Given the description of an element on the screen output the (x, y) to click on. 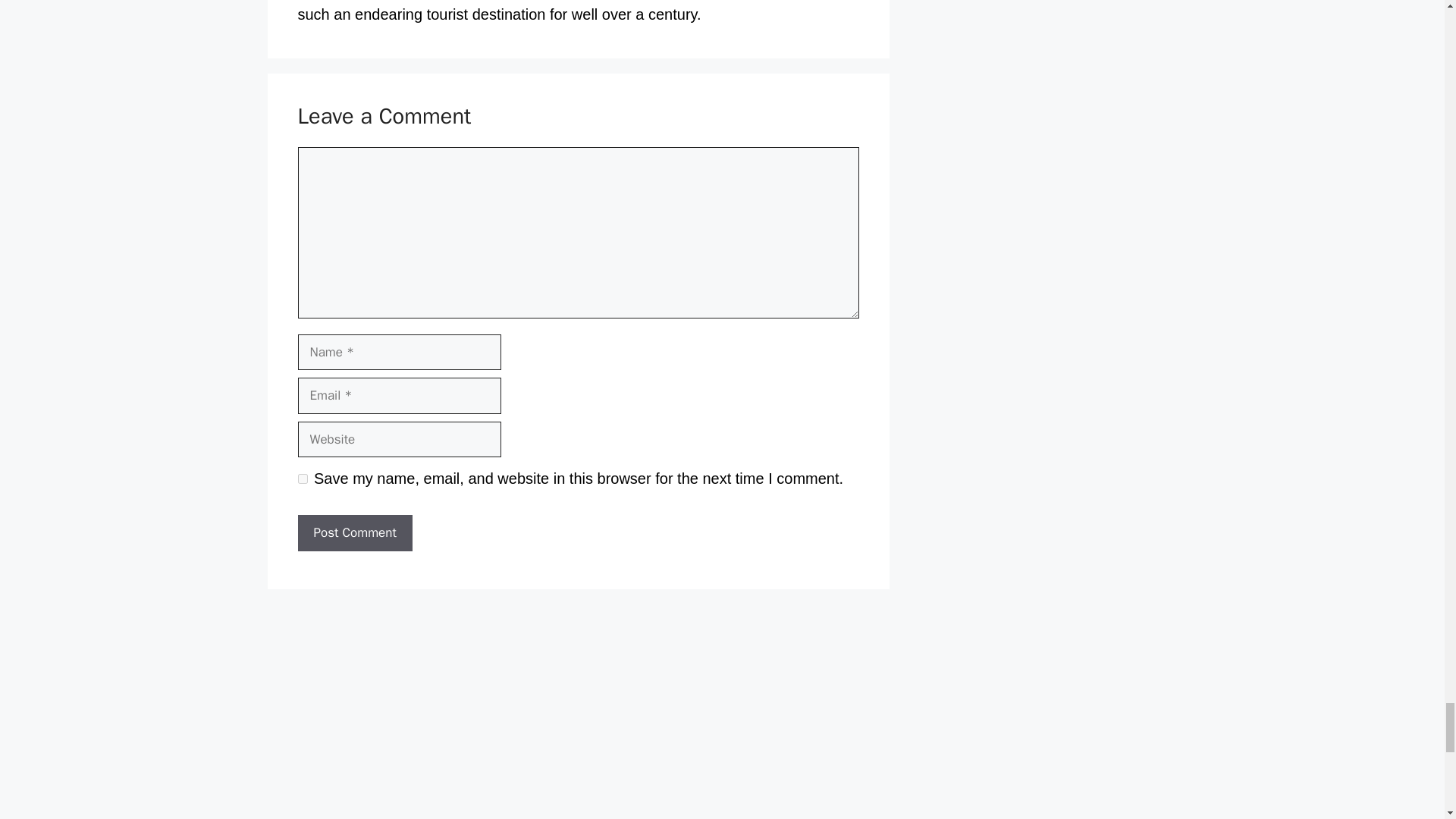
yes (302, 479)
Post Comment (354, 533)
